Given the description of an element on the screen output the (x, y) to click on. 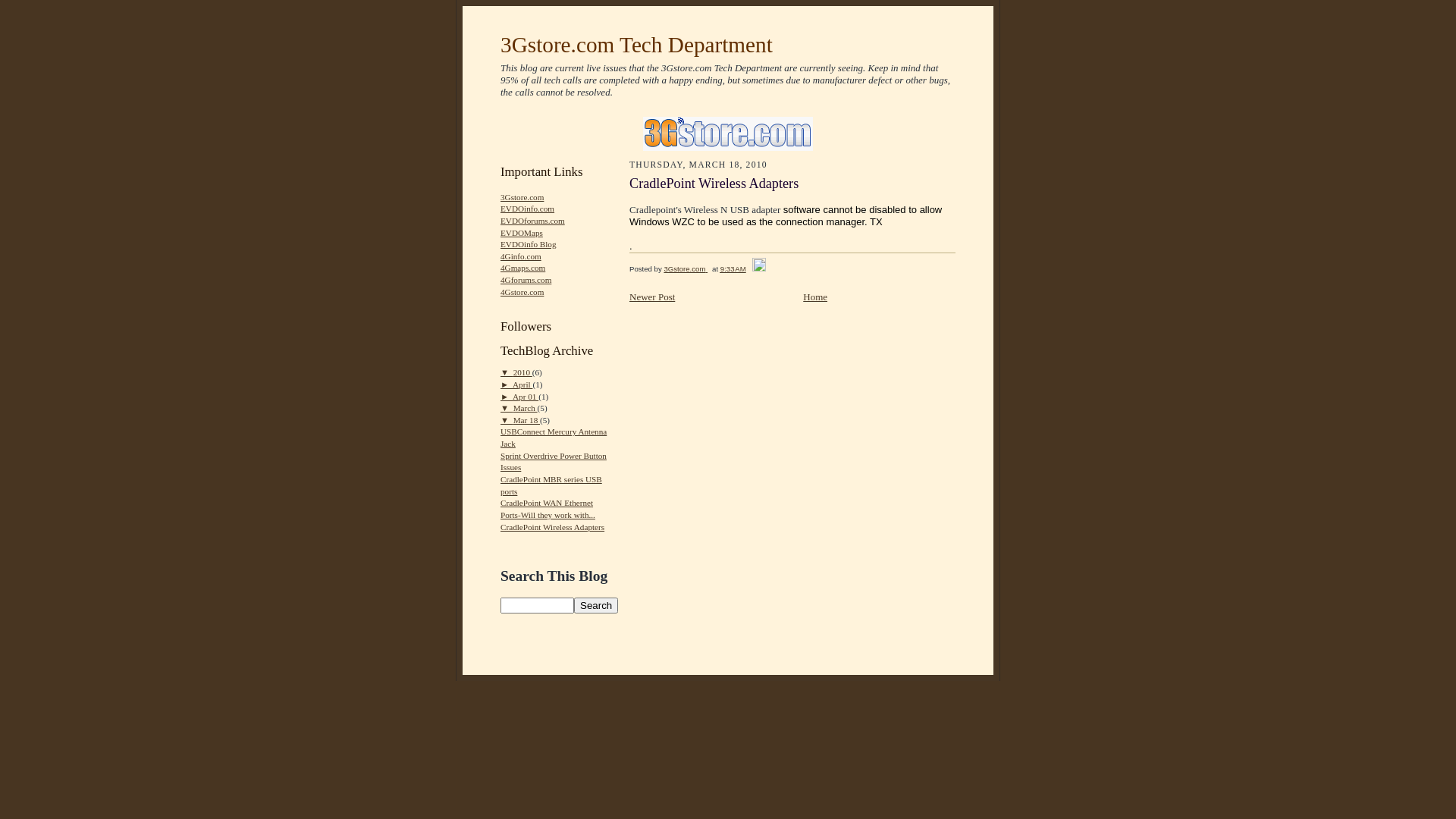
3Gstore.com Tech Department Element type: text (636, 44)
EVDOMaps Element type: text (521, 232)
EVDOforums.com Element type: text (532, 220)
Edit Post Element type: hover (758, 268)
Newer Post Element type: text (651, 296)
3Gstore.com Element type: text (521, 196)
Sprint Overdrive Power Button Issues Element type: text (553, 461)
Apr 01 Element type: text (525, 395)
4Gstore.com Element type: text (521, 291)
March Element type: text (525, 407)
2010 Element type: text (522, 371)
Home Element type: text (815, 296)
CradlePoint Wireless Adapters Element type: text (552, 526)
April Element type: text (522, 384)
EVDOinfo.com Element type: text (527, 208)
search Element type: hover (596, 605)
4Gforums.com Element type: text (525, 279)
EVDOinfo Blog Element type: text (528, 243)
Mar 18 Element type: text (526, 419)
4Ginfo.com Element type: text (520, 255)
4Gmaps.com Element type: text (522, 267)
CradlePoint WAN Ethernet Ports-Will they work with... Element type: text (547, 508)
Search Element type: text (596, 605)
CradlePoint MBR series USB ports Element type: text (551, 484)
USBConnect Mercury Antenna Jack Element type: text (553, 437)
3Gstore.com Element type: text (685, 268)
search Element type: hover (537, 605)
